Given the description of an element on the screen output the (x, y) to click on. 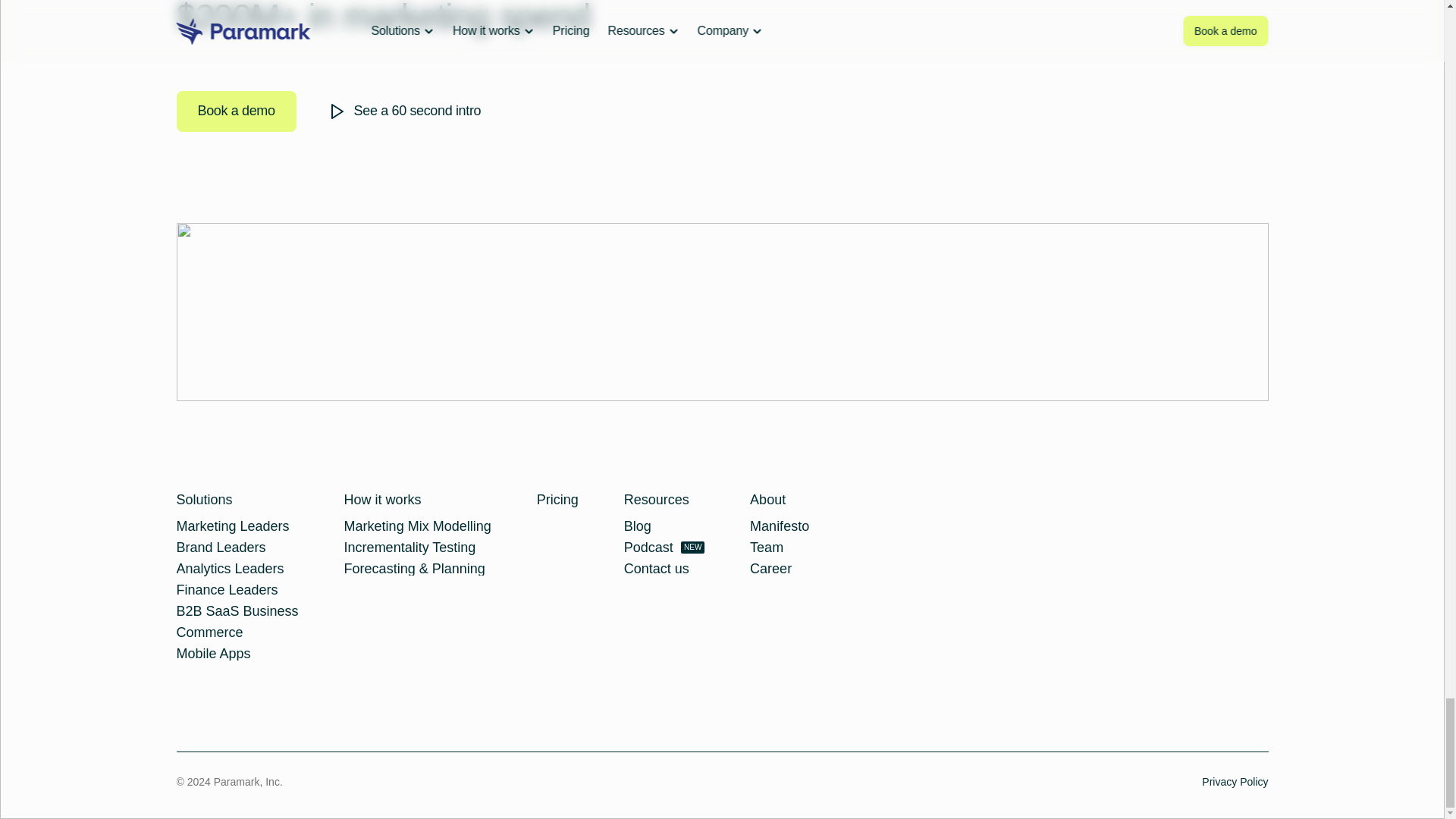
Blog (637, 525)
Manifesto (779, 525)
Brand Leaders (220, 547)
Marketing Mix Modelling (417, 525)
Analytics Leaders (229, 568)
B2B SaaS Business (237, 611)
Book a demo (235, 110)
Career (770, 568)
Commerce (209, 631)
Finance Leaders (227, 589)
Marketing Leaders (232, 525)
Pricing (557, 499)
Team (766, 547)
Contact us (656, 568)
